Given the description of an element on the screen output the (x, y) to click on. 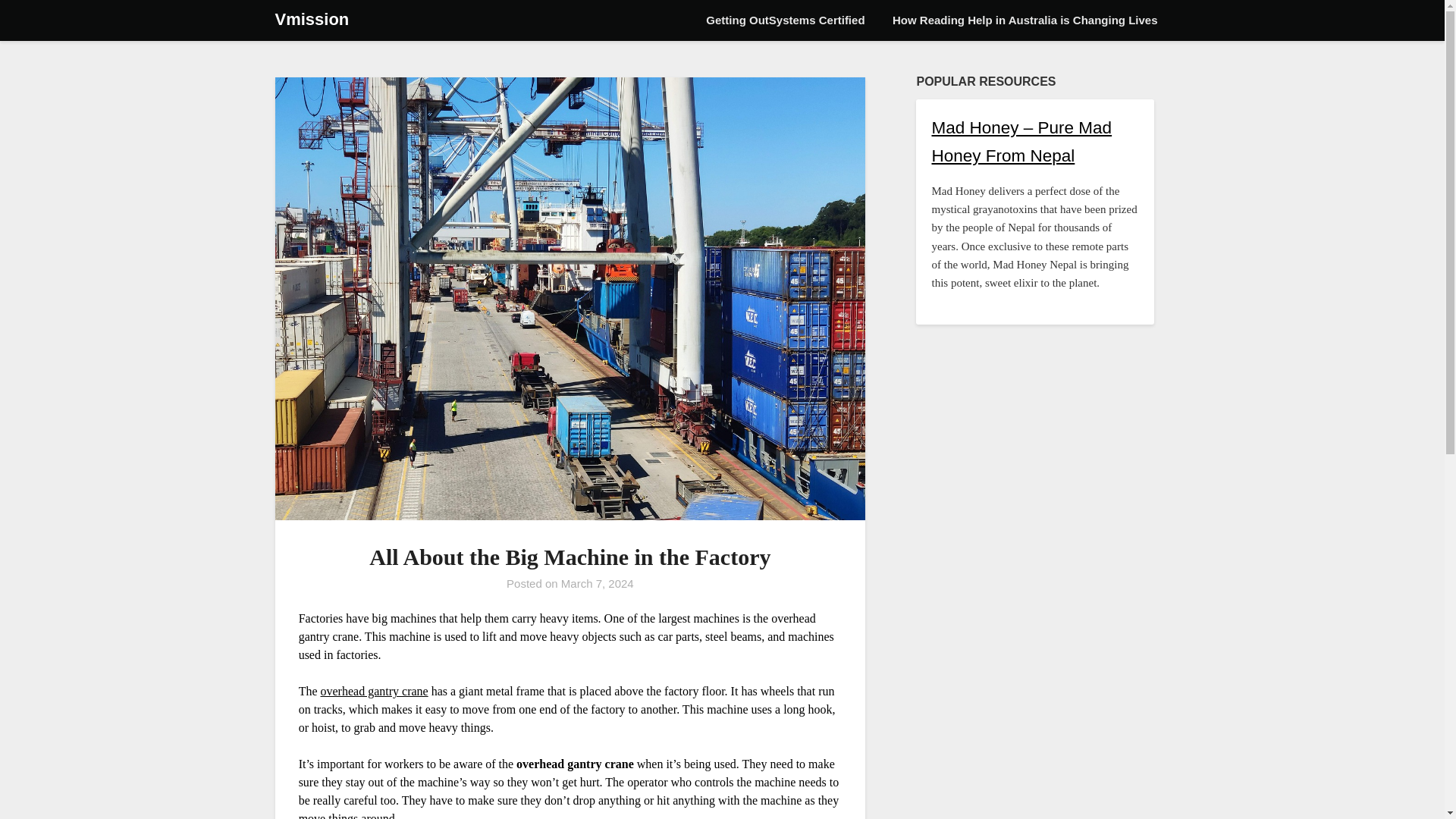
Getting OutSystems Certified (785, 20)
overhead gantry crane (374, 690)
How Reading Help in Australia is Changing Lives (1025, 20)
Vmission (312, 19)
March 7, 2024 (596, 583)
